Given the description of an element on the screen output the (x, y) to click on. 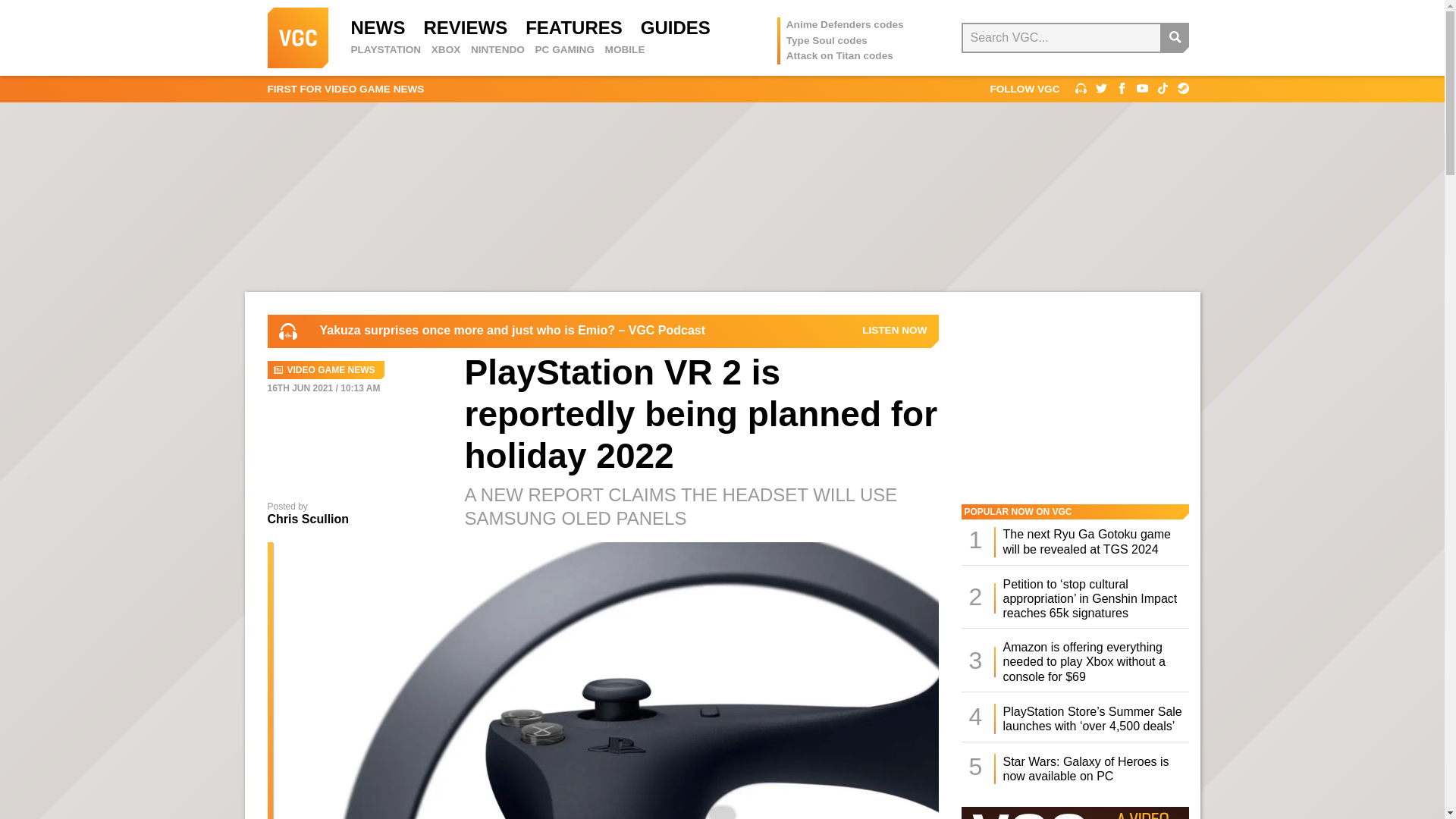
Chris Scullion (307, 518)
PLAYSTATION (385, 49)
Posts by Chris Scullion (307, 518)
VGC (296, 37)
Anime Defenders codes (845, 24)
PC GAMING (564, 49)
LISTEN NOW (893, 330)
VIDEO GAME NEWS (325, 370)
GUIDES (675, 27)
NINTENDO (497, 49)
VGC Podcast (893, 330)
MOBILE (625, 49)
XBOX (445, 49)
Type Soul codes (826, 40)
FEATURES (574, 27)
